Given the description of an element on the screen output the (x, y) to click on. 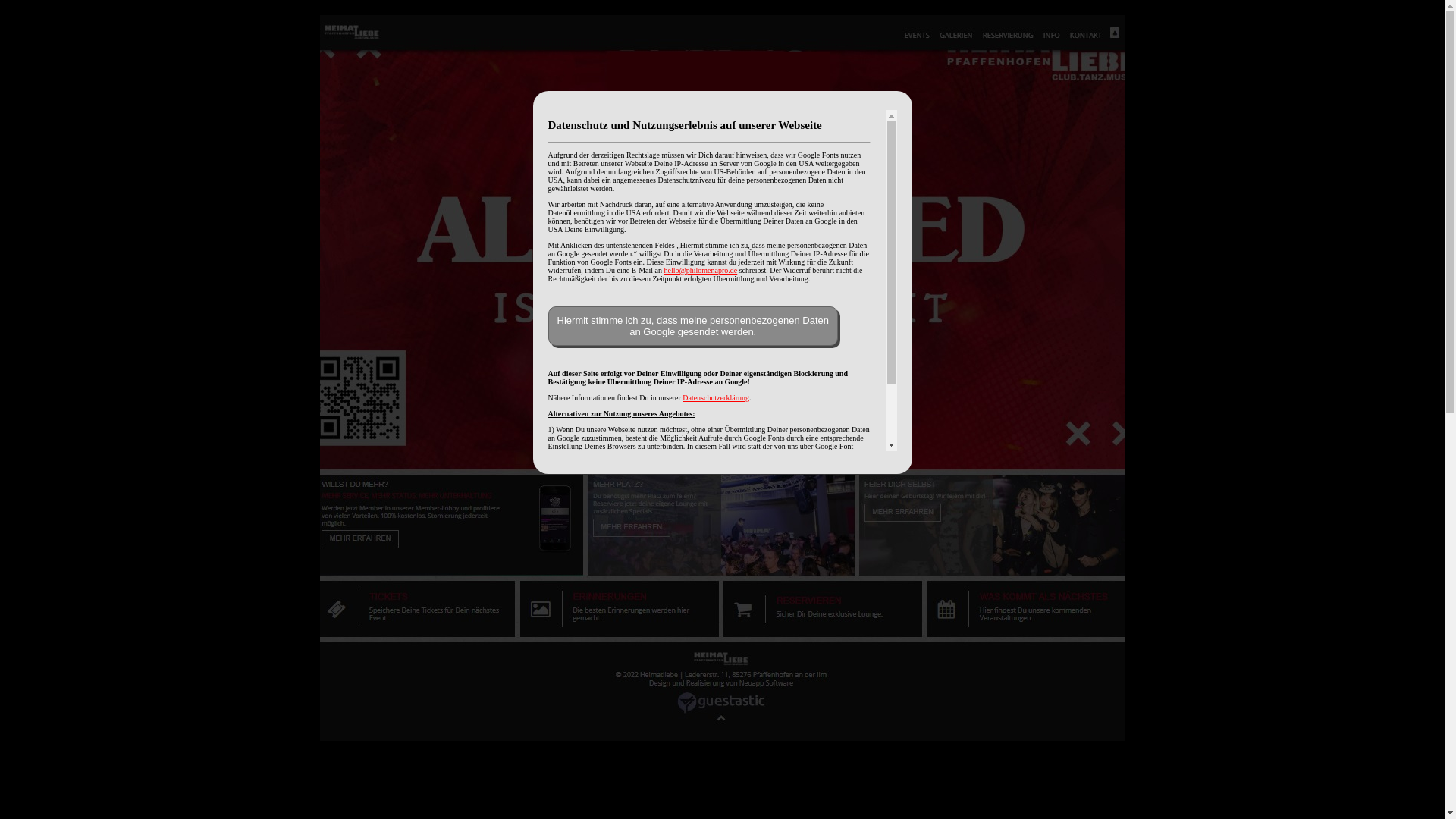
hello@philomenapro.de Element type: text (700, 270)
